Given the description of an element on the screen output the (x, y) to click on. 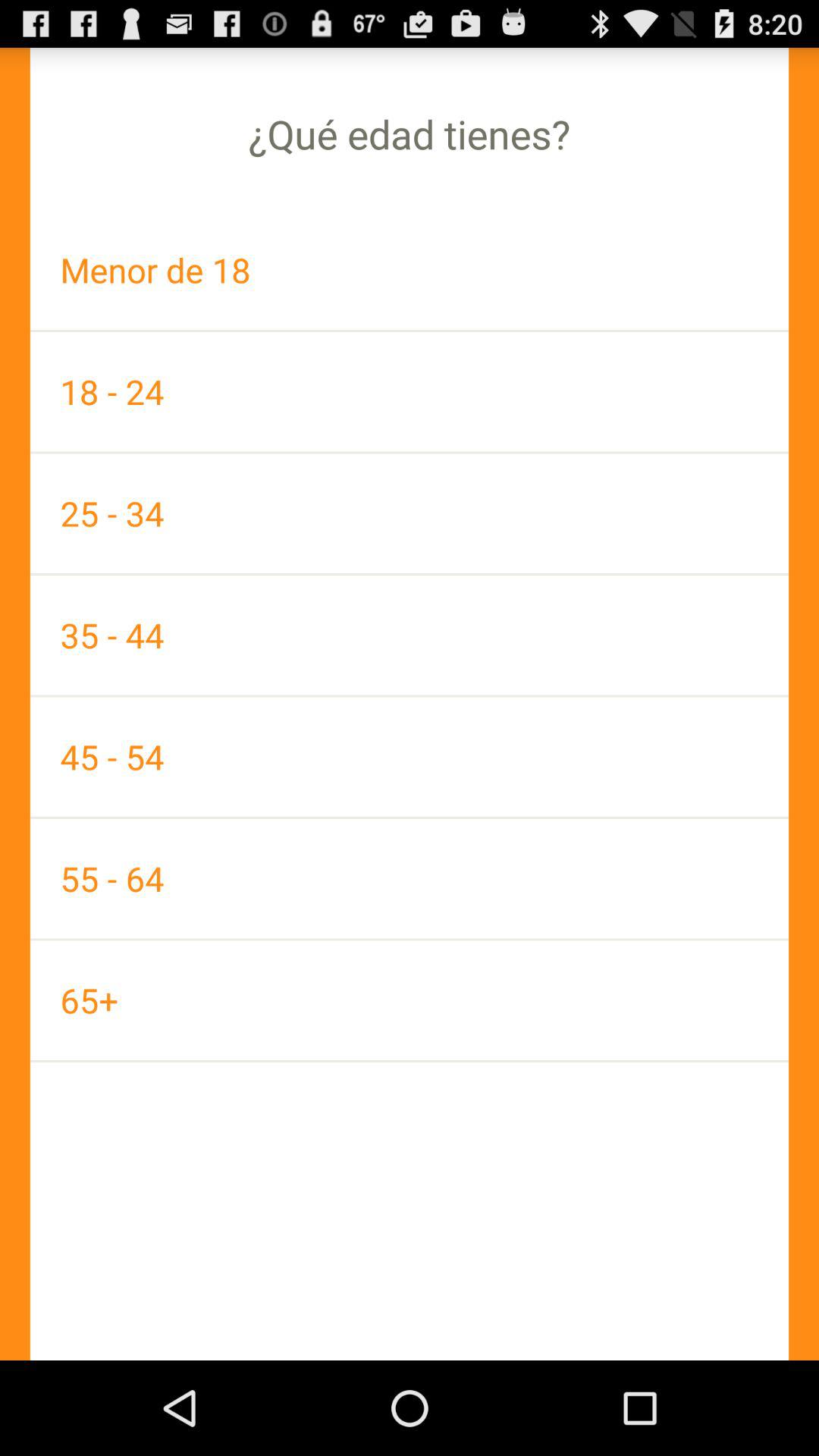
flip to the 65+ app (409, 1000)
